Given the description of an element on the screen output the (x, y) to click on. 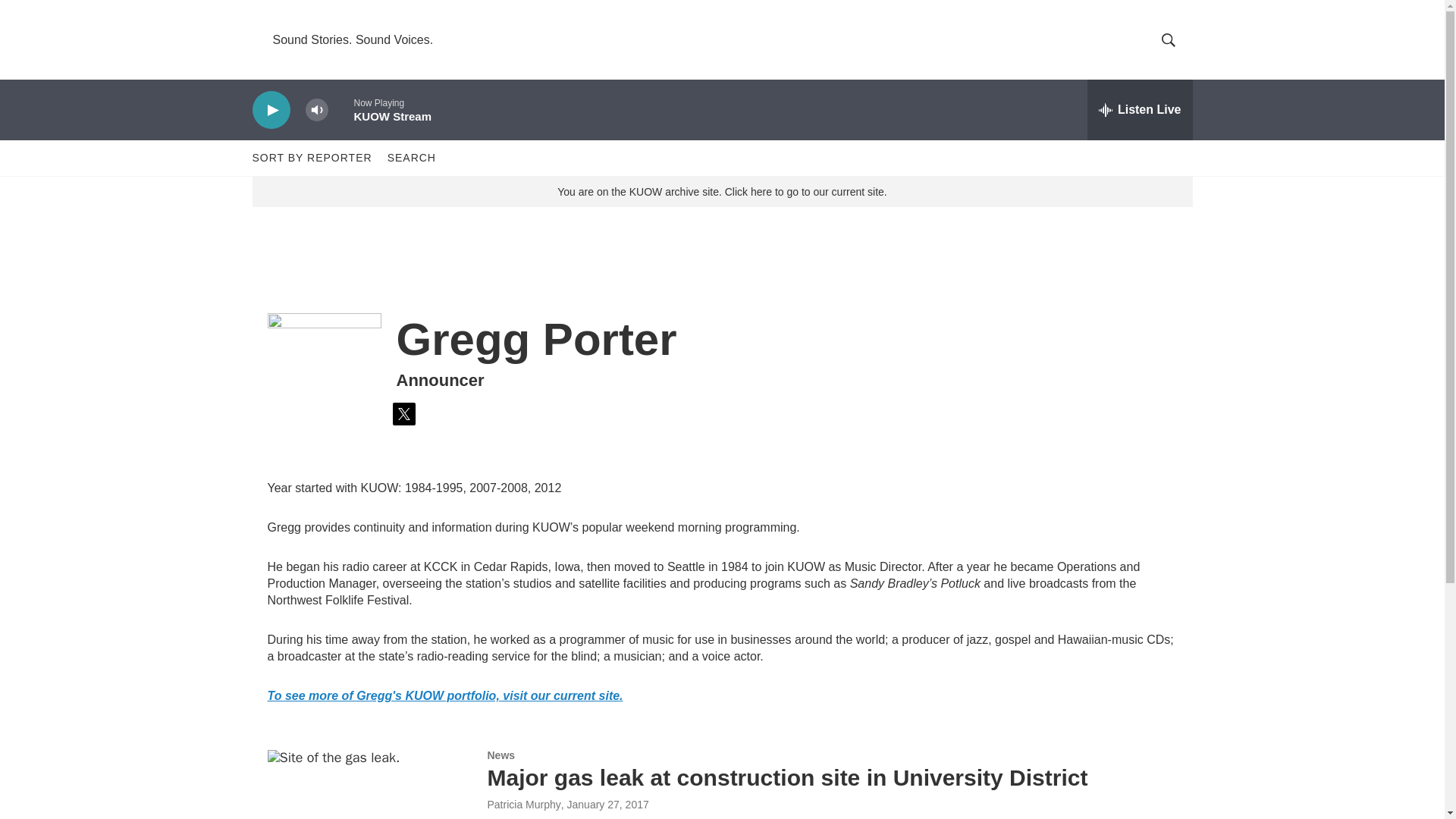
twitter (403, 413)
Major gas leak at construction site in University District (786, 777)
SEARCH (411, 158)
SORT BY REPORTER (311, 158)
Listen Live (1139, 109)
Patricia Murphy (523, 804)
Show Search (1168, 39)
News (500, 755)
